Given the description of an element on the screen output the (x, y) to click on. 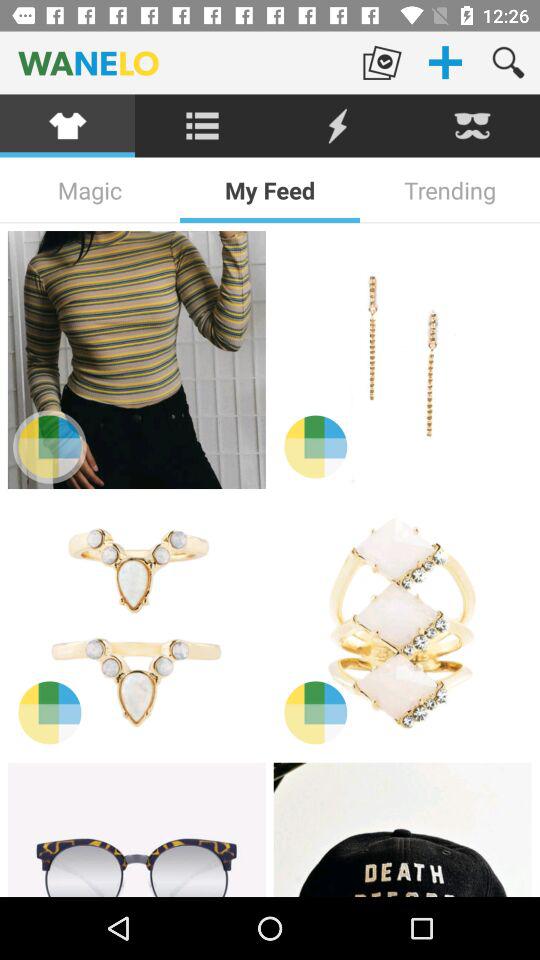
tap the icon below the wanelo (202, 125)
